Given the description of an element on the screen output the (x, y) to click on. 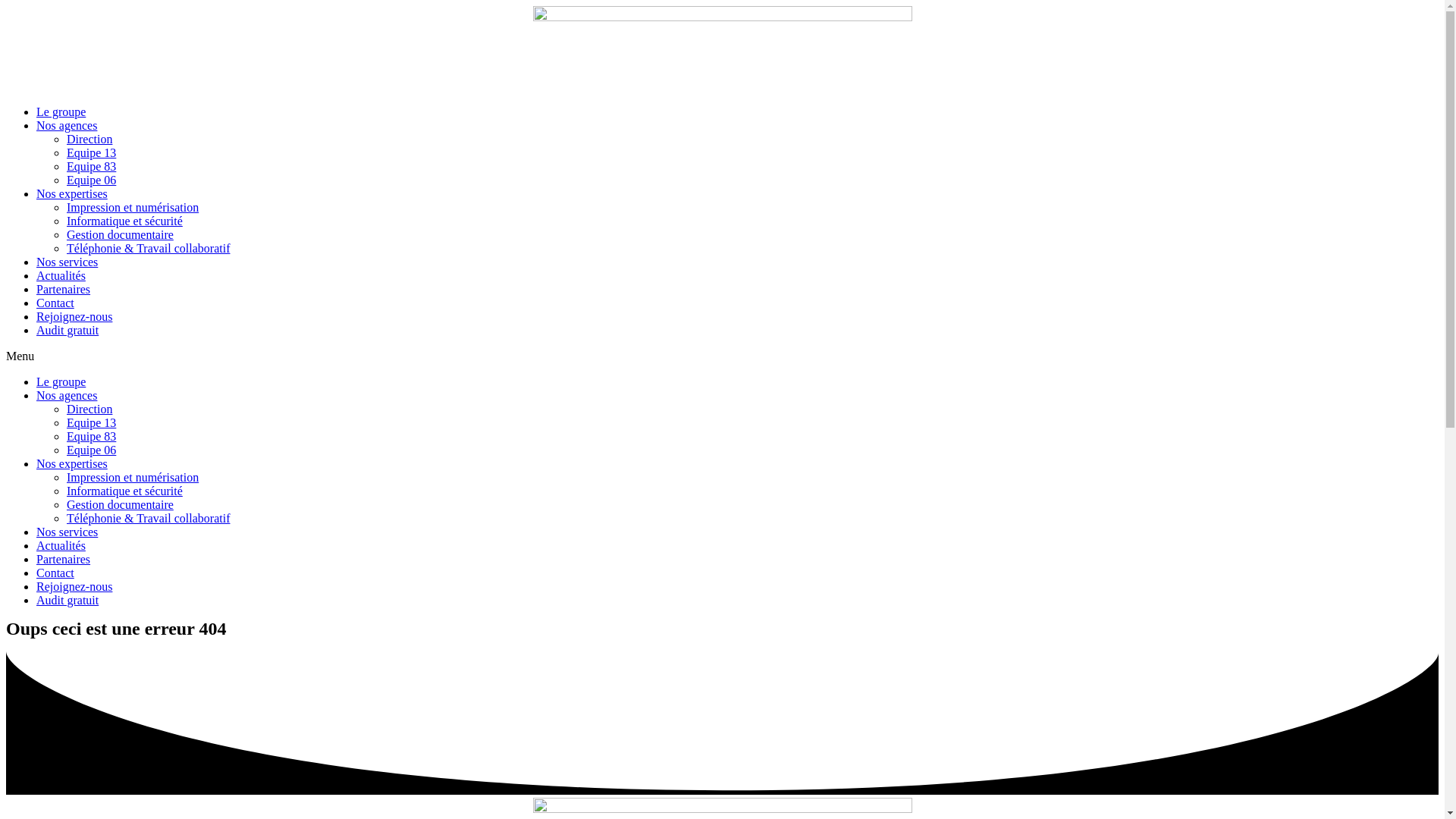
Rejoignez-nous Element type: text (74, 586)
Direction Element type: text (89, 138)
Equipe 13 Element type: text (91, 422)
Partenaires Element type: text (63, 288)
Nos services Element type: text (66, 261)
Equipe 83 Element type: text (91, 166)
Equipe 06 Element type: text (91, 179)
Audit gratuit Element type: text (67, 329)
Nos services Element type: text (66, 531)
Contact Element type: text (55, 572)
Gestion documentaire Element type: text (119, 234)
Nos expertises Element type: text (71, 463)
Audit gratuit Element type: text (67, 599)
Rejoignez-nous Element type: text (74, 316)
Equipe 06 Element type: text (91, 449)
Nos expertises Element type: text (71, 193)
Gestion documentaire Element type: text (119, 504)
Le groupe Element type: text (60, 381)
Direction Element type: text (89, 408)
Equipe 13 Element type: text (91, 152)
Equipe 83 Element type: text (91, 435)
Contact Element type: text (55, 302)
Partenaires Element type: text (63, 558)
Nos agences Element type: text (66, 125)
Nos agences Element type: text (66, 395)
Le groupe Element type: text (60, 111)
